Given the description of an element on the screen output the (x, y) to click on. 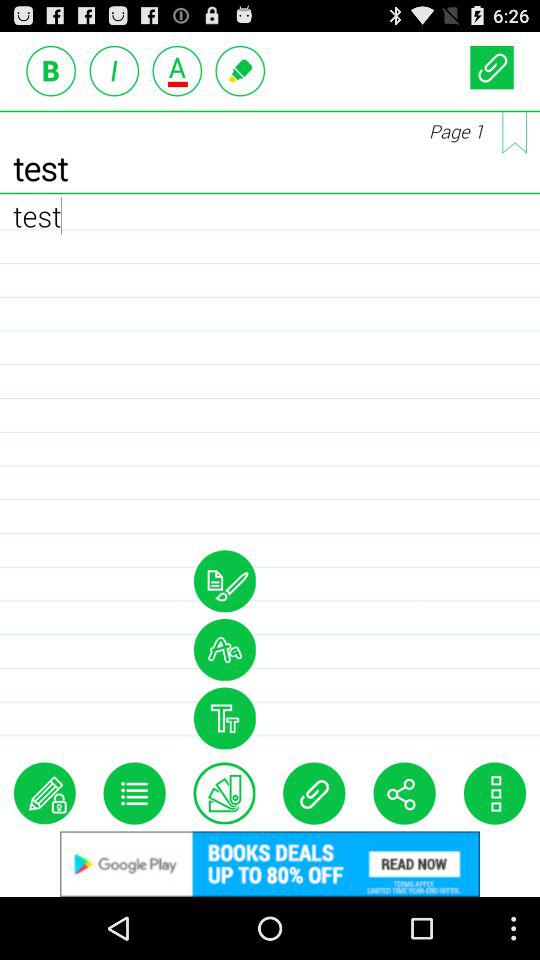
use highlighter (240, 70)
